Given the description of an element on the screen output the (x, y) to click on. 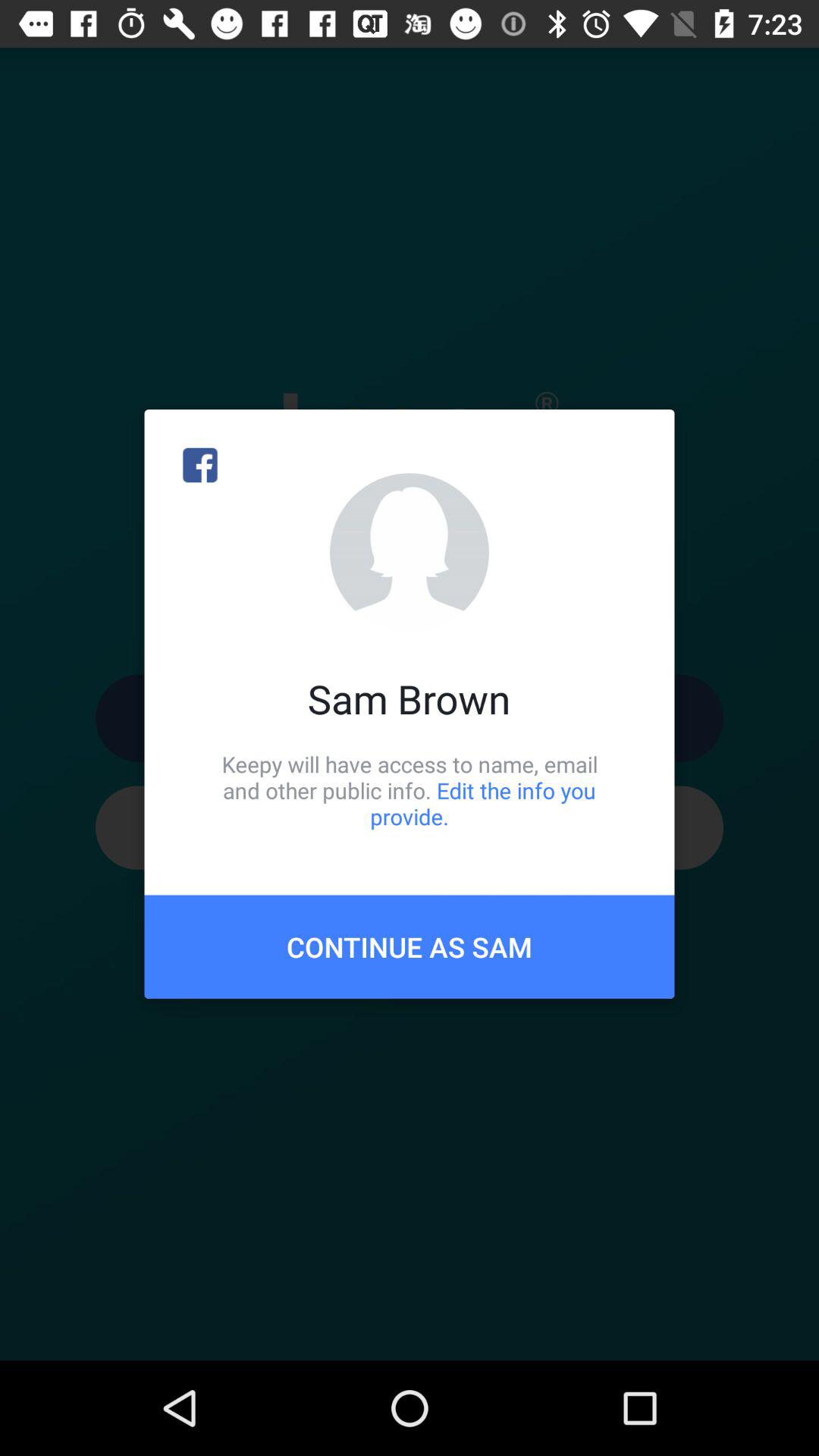
choose keepy will have icon (409, 790)
